Given the description of an element on the screen output the (x, y) to click on. 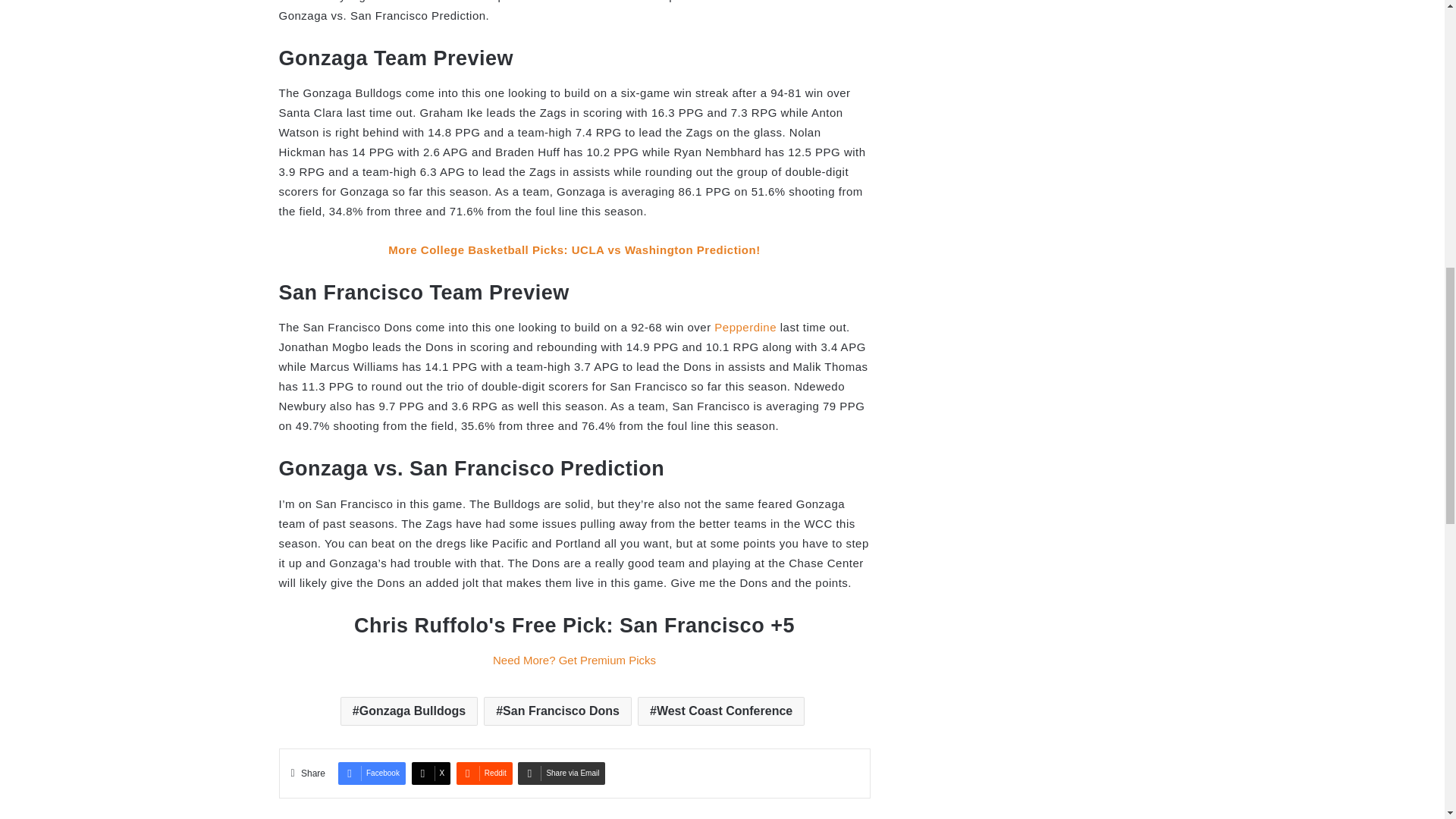
Facebook (371, 773)
X (431, 773)
Reddit (484, 773)
Share via Email (561, 773)
